Given the description of an element on the screen output the (x, y) to click on. 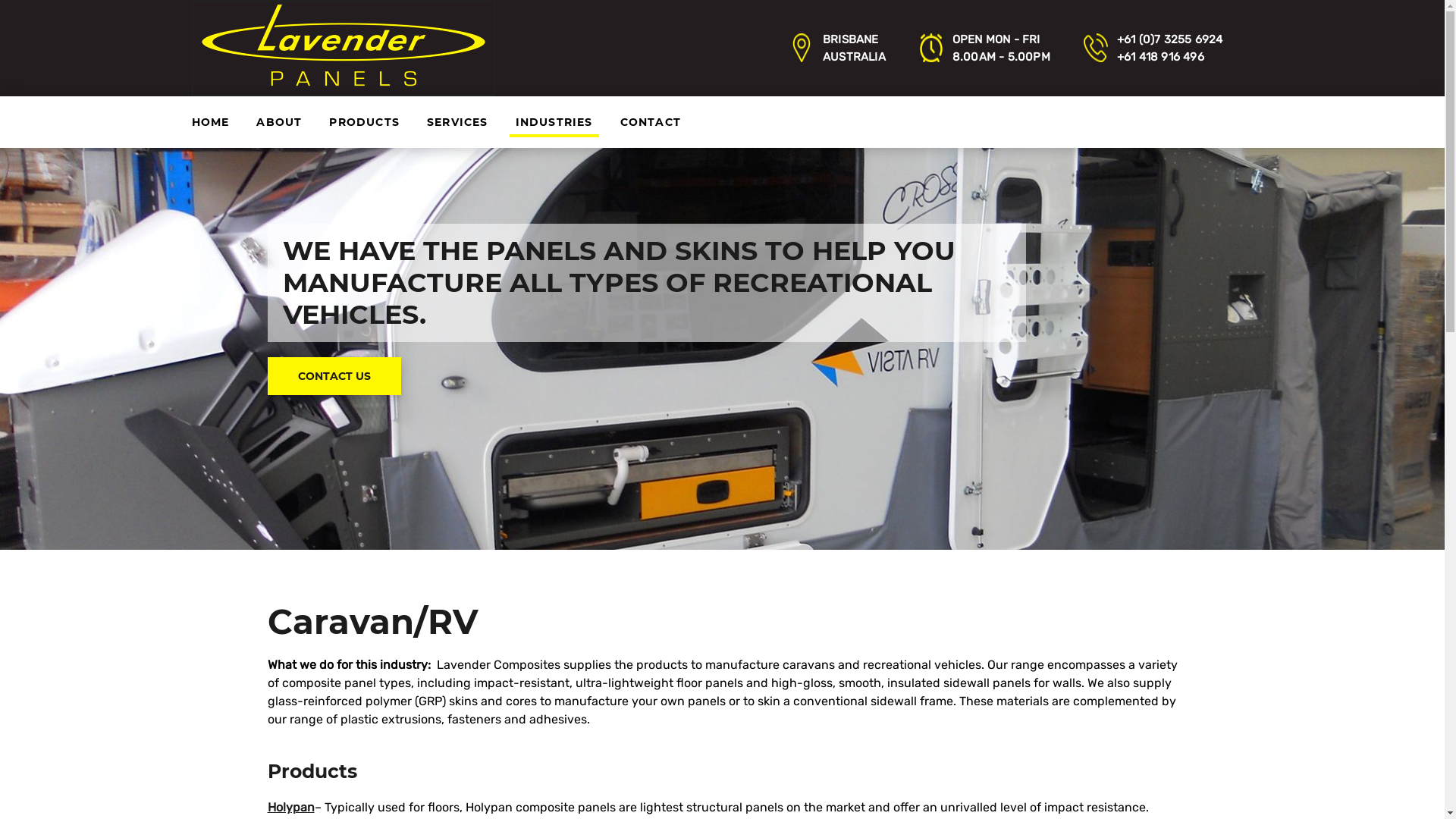
+61 418 916 496 Element type: text (1160, 56)
HOME Element type: text (209, 121)
SERVICES Element type: text (457, 121)
+61 (0)7 3255 6924 Element type: text (1170, 39)
CONTACT Element type: text (650, 121)
CONTACT US Element type: text (333, 376)
PRODUCTS Element type: text (364, 121)
ABOUT Element type: text (278, 121)
INDUSTRIES Element type: text (554, 121)
Holypan Element type: text (289, 807)
